Given the description of an element on the screen output the (x, y) to click on. 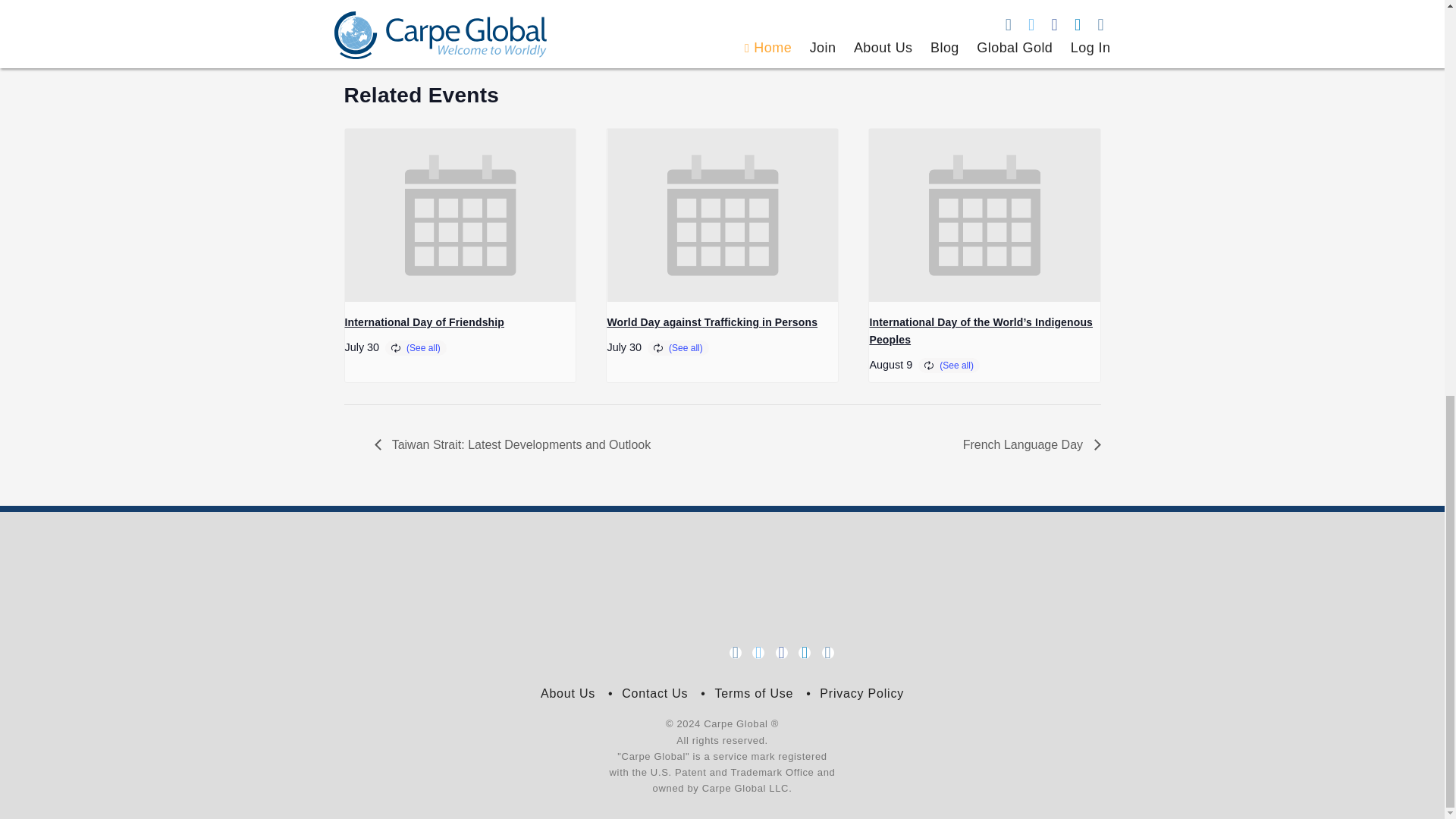
International Day of Friendship (423, 322)
World Day against Trafficking in Persons (711, 322)
